Given the description of an element on the screen output the (x, y) to click on. 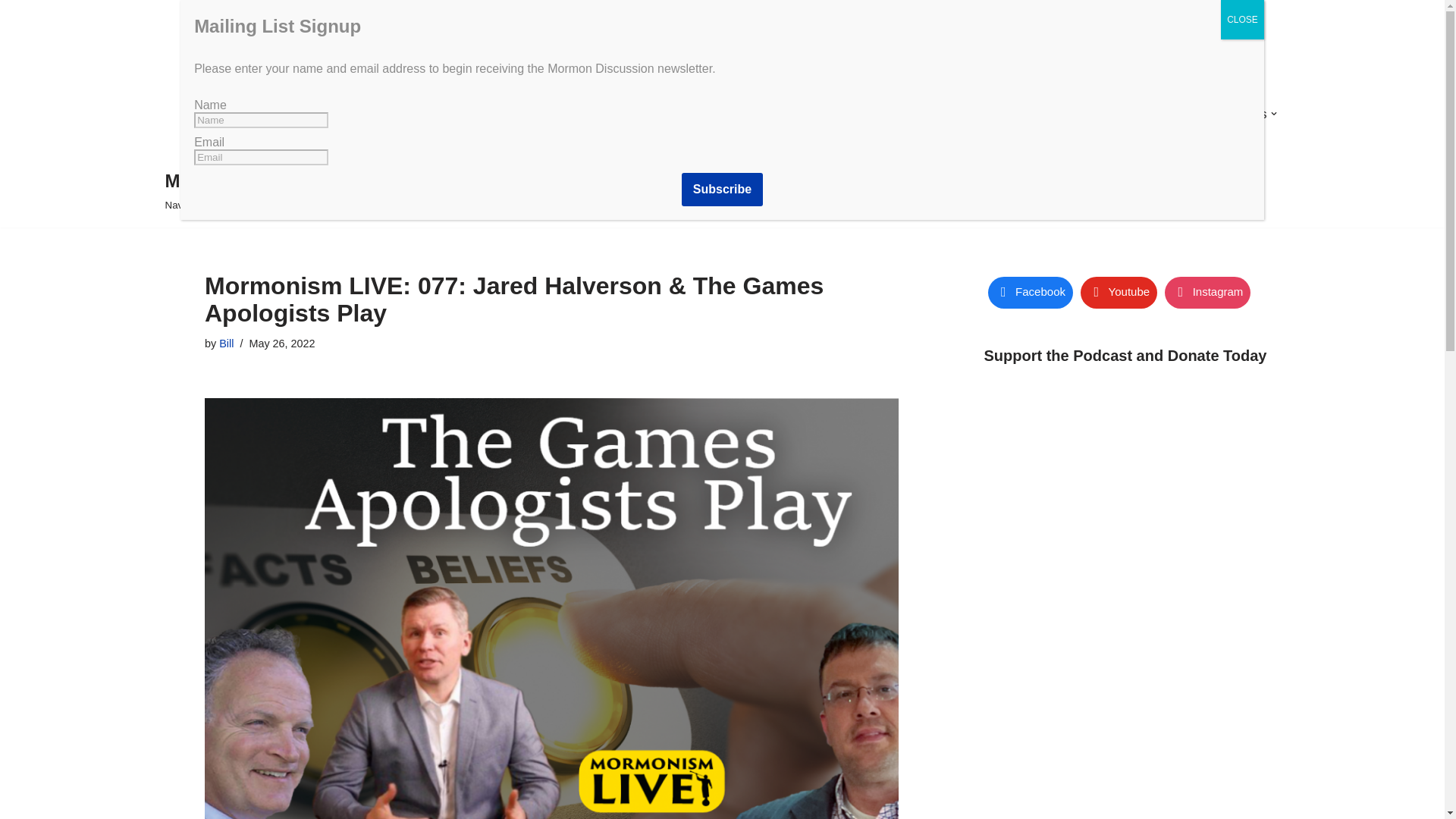
Donate (898, 114)
Gift Shop (975, 114)
Mormon Discussions (683, 114)
Posts by Bill (225, 343)
Youtube (1118, 292)
Utah Marriage Officiant (1084, 114)
Bill (225, 343)
Episode Archive (815, 114)
Instagram (1207, 292)
Home (590, 114)
Helpful Resources (1216, 114)
Skip to content (11, 31)
Facebook (1029, 292)
